Given the description of an element on the screen output the (x, y) to click on. 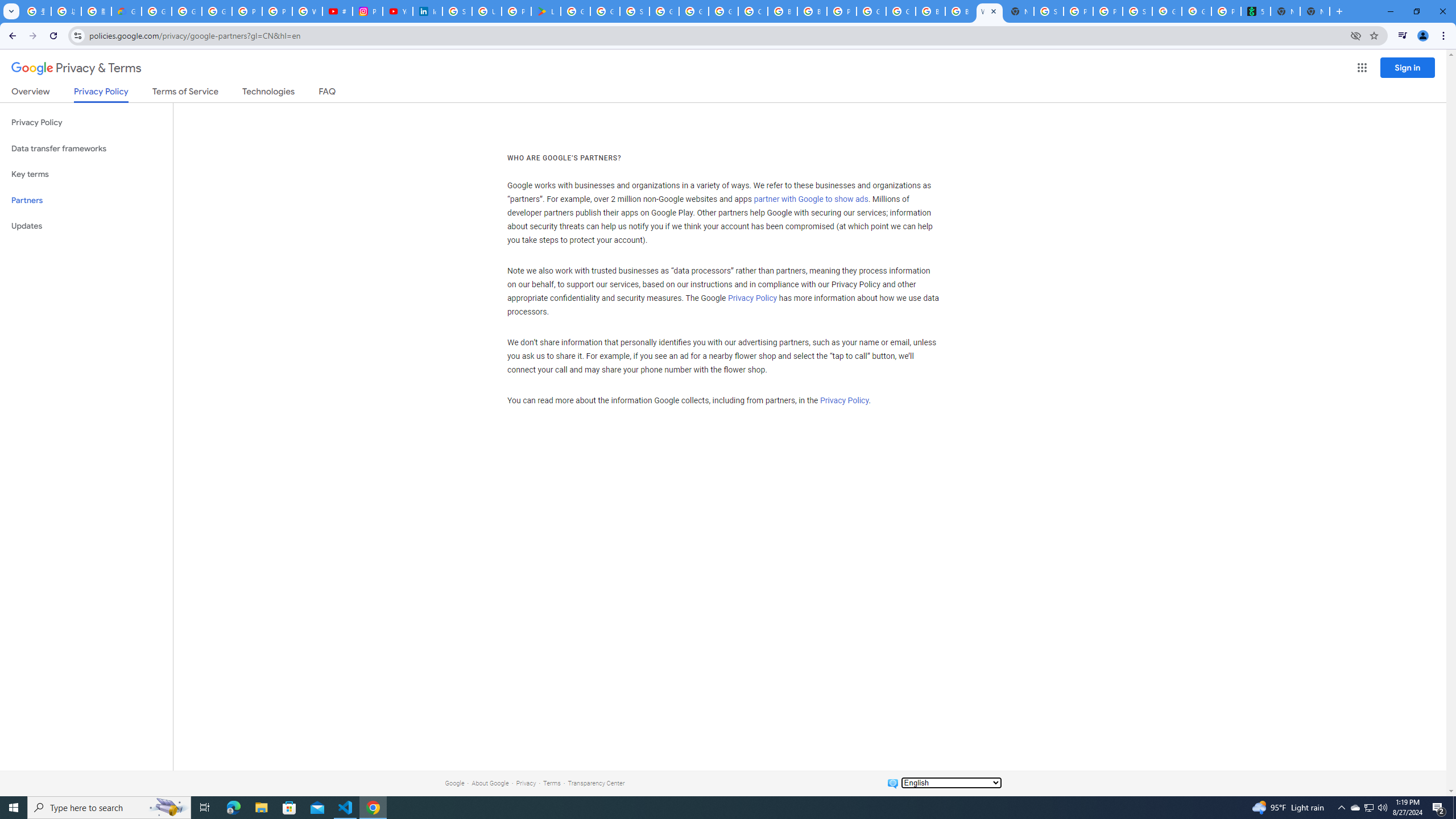
Browse Chrome as a guest - Computer - Google Chrome Help (930, 11)
Sign in - Google Accounts (634, 11)
Google Cloud Platform (900, 11)
Data transfer frameworks (86, 148)
Last Shelter: Survival - Apps on Google Play (545, 11)
